Given the description of an element on the screen output the (x, y) to click on. 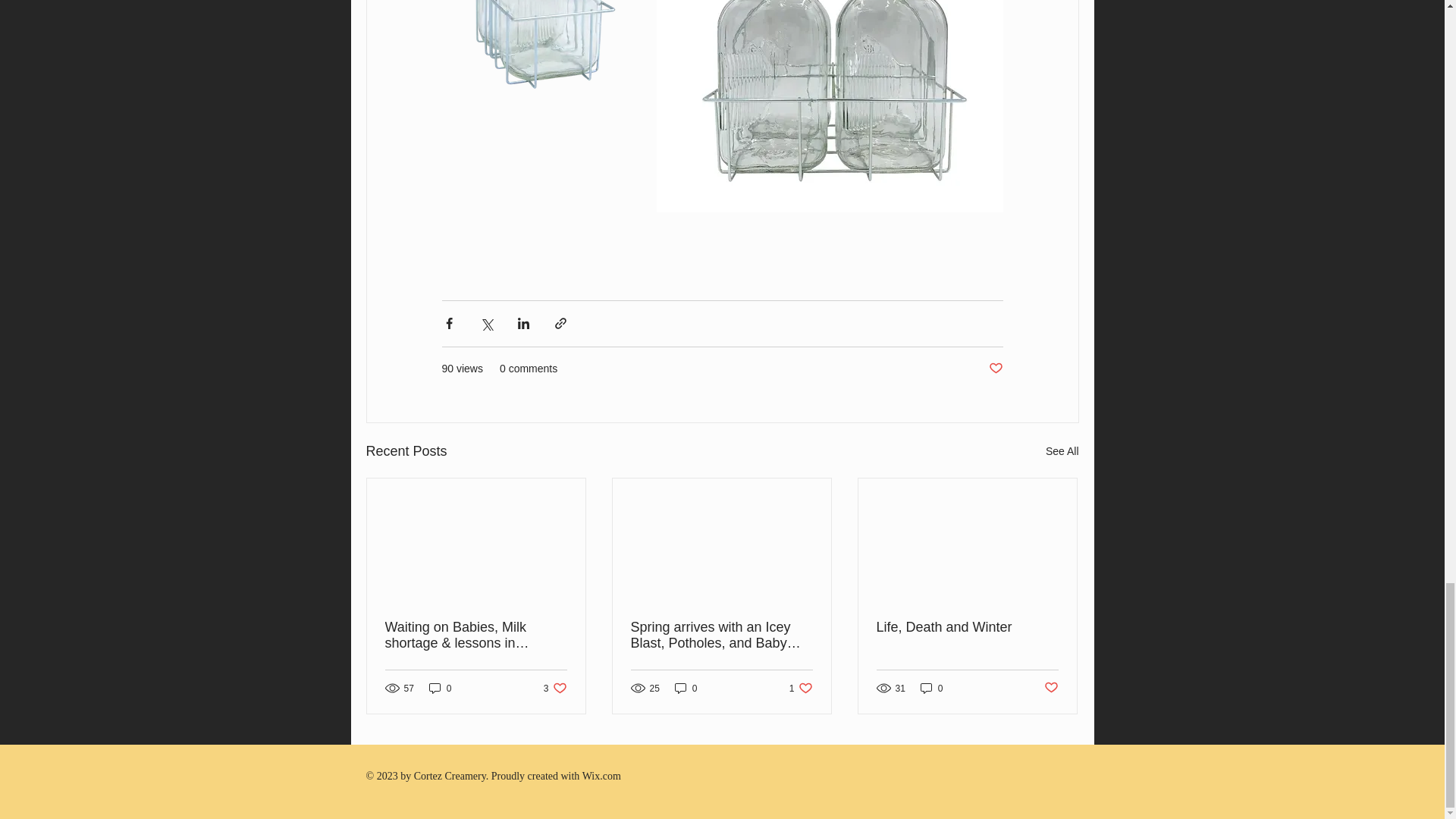
Wix.com (601, 776)
0 (931, 687)
See All (1061, 451)
0 (440, 687)
Post not marked as liked (555, 687)
Life, Death and Winter (1050, 688)
Post not marked as liked (967, 627)
0 (995, 368)
